Given the description of an element on the screen output the (x, y) to click on. 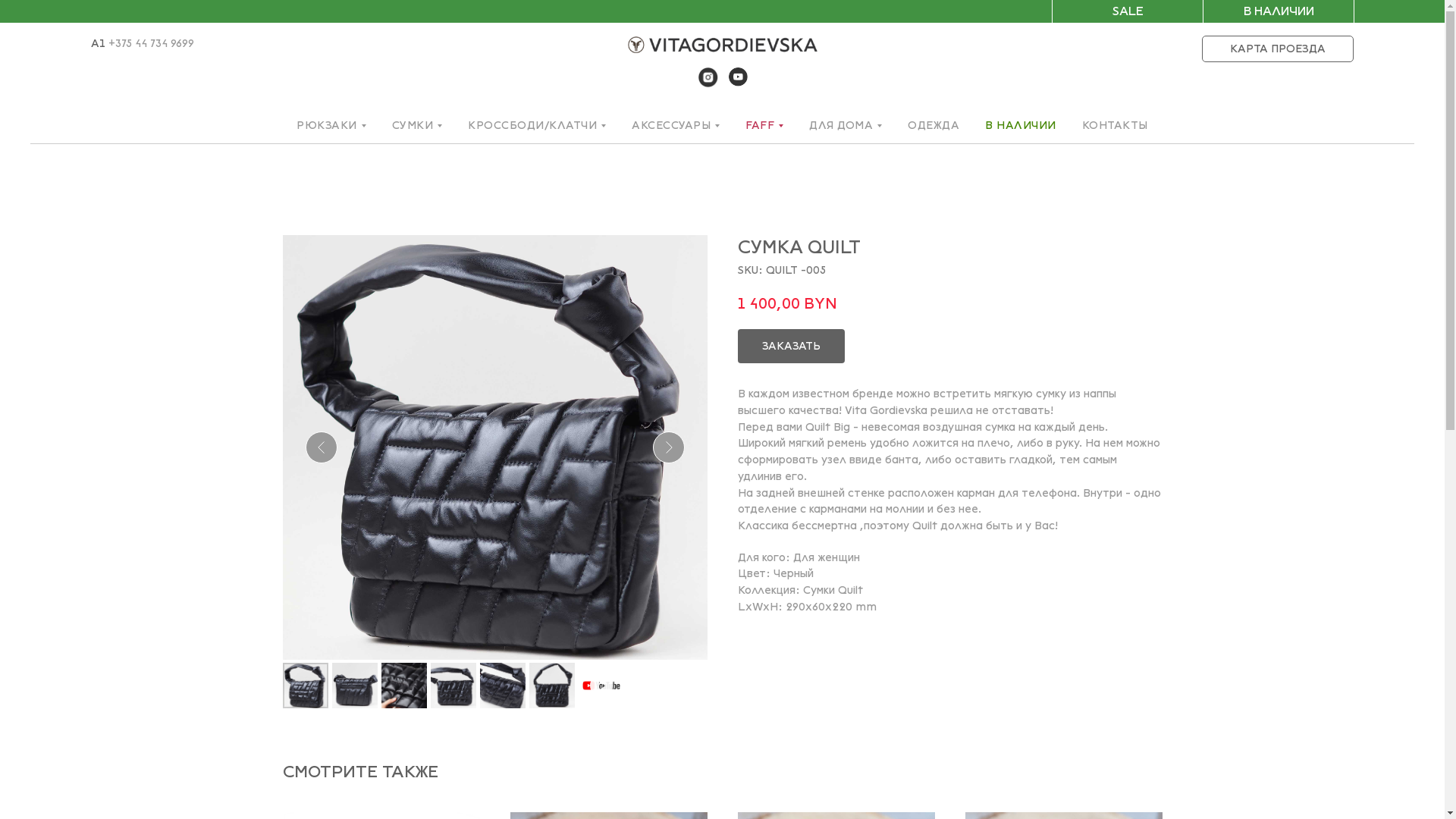
+375 44 734 9699 Element type: text (149, 43)
FAFF Element type: text (764, 125)
